Given the description of an element on the screen output the (x, y) to click on. 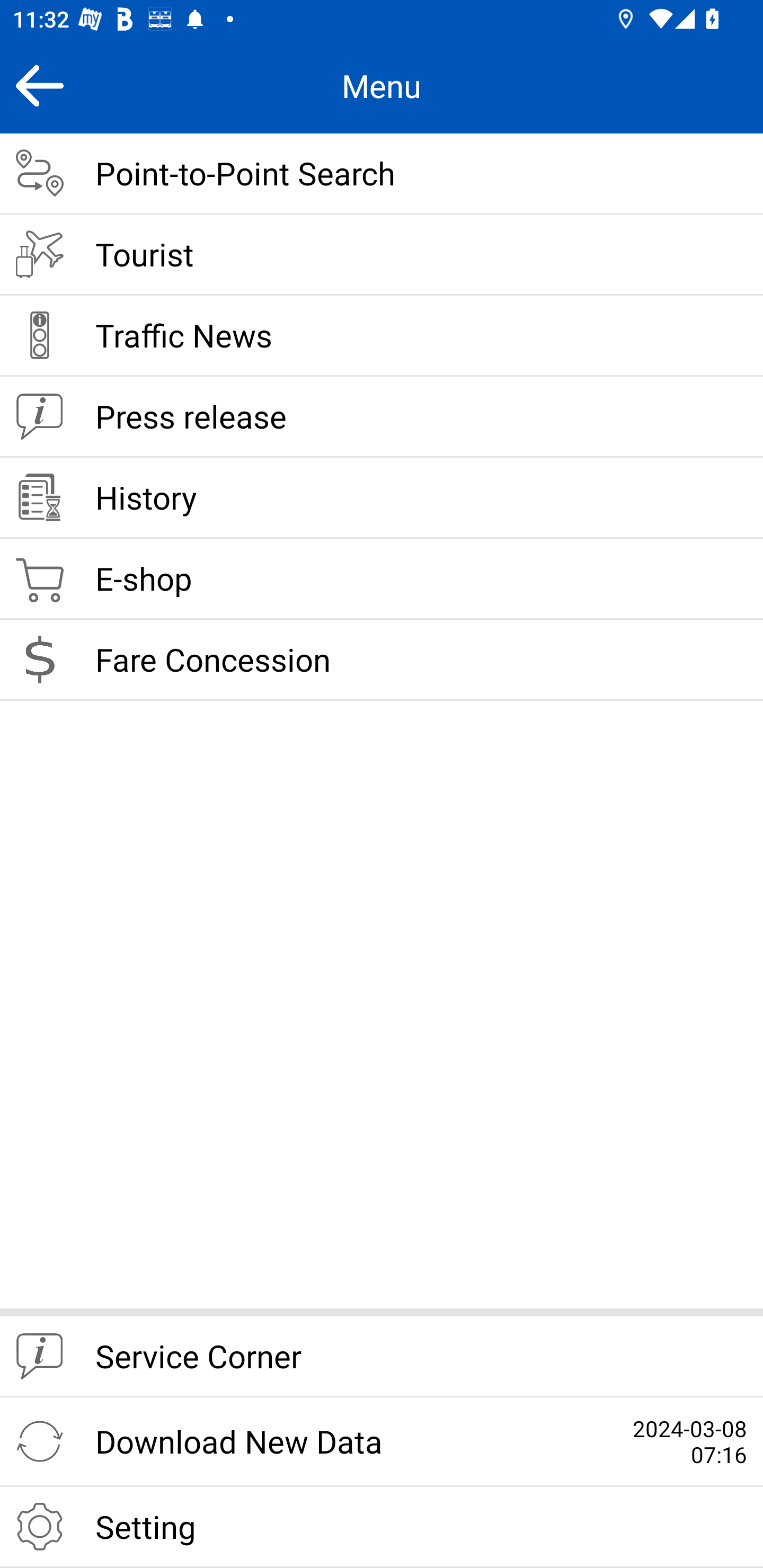
Back (39, 85)
Point-to-Point Search (381, 173)
Tourist (381, 255)
Traffic News (381, 336)
Press release (381, 416)
History (381, 498)
E-shop (381, 579)
Fare Concession (381, 659)
Service Corner (381, 1357)
Download New Data 2024-03-08
07:16 (381, 1441)
Setting (381, 1527)
